Given the description of an element on the screen output the (x, y) to click on. 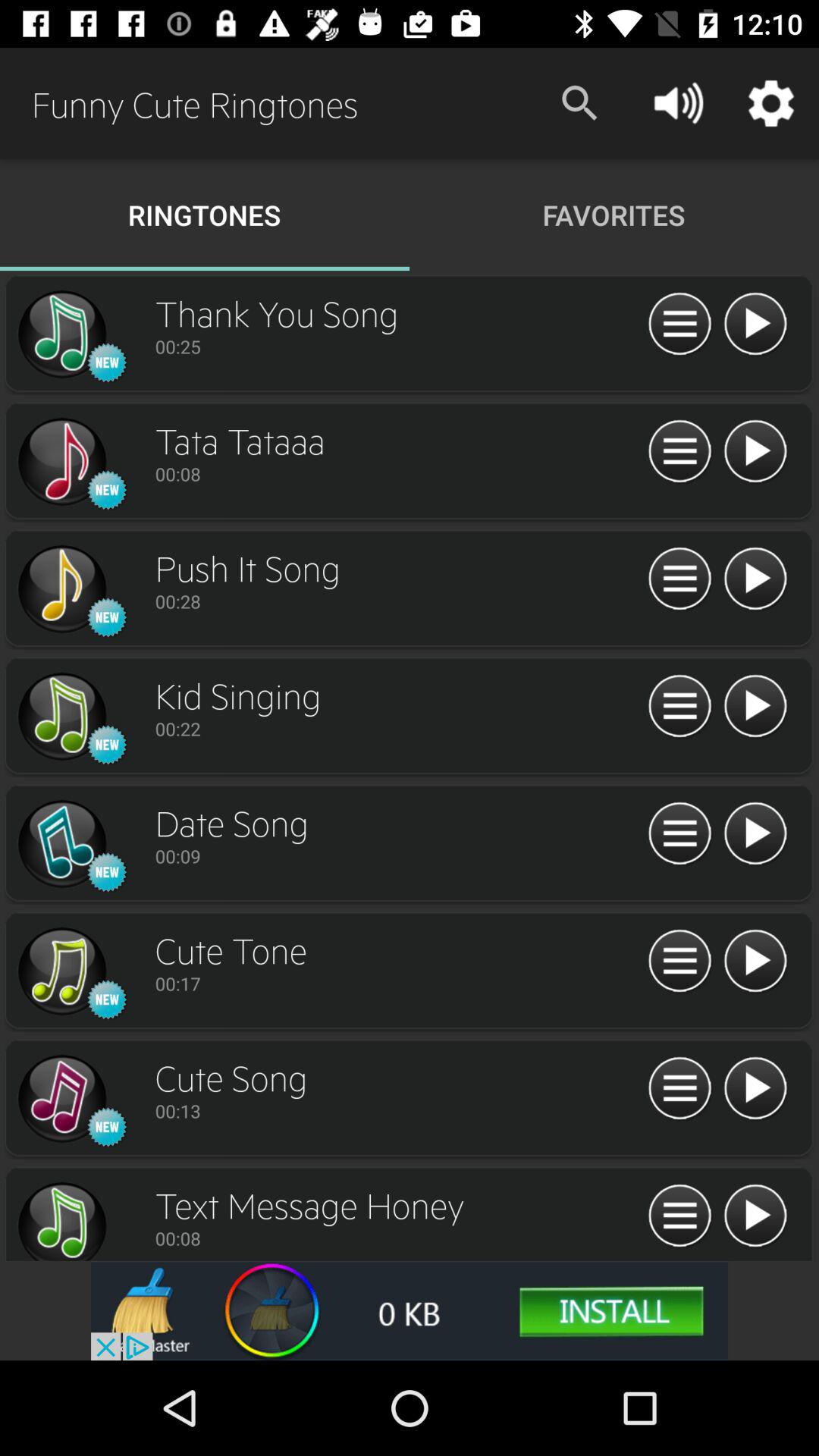
play ringtone (755, 1216)
